Given the description of an element on the screen output the (x, y) to click on. 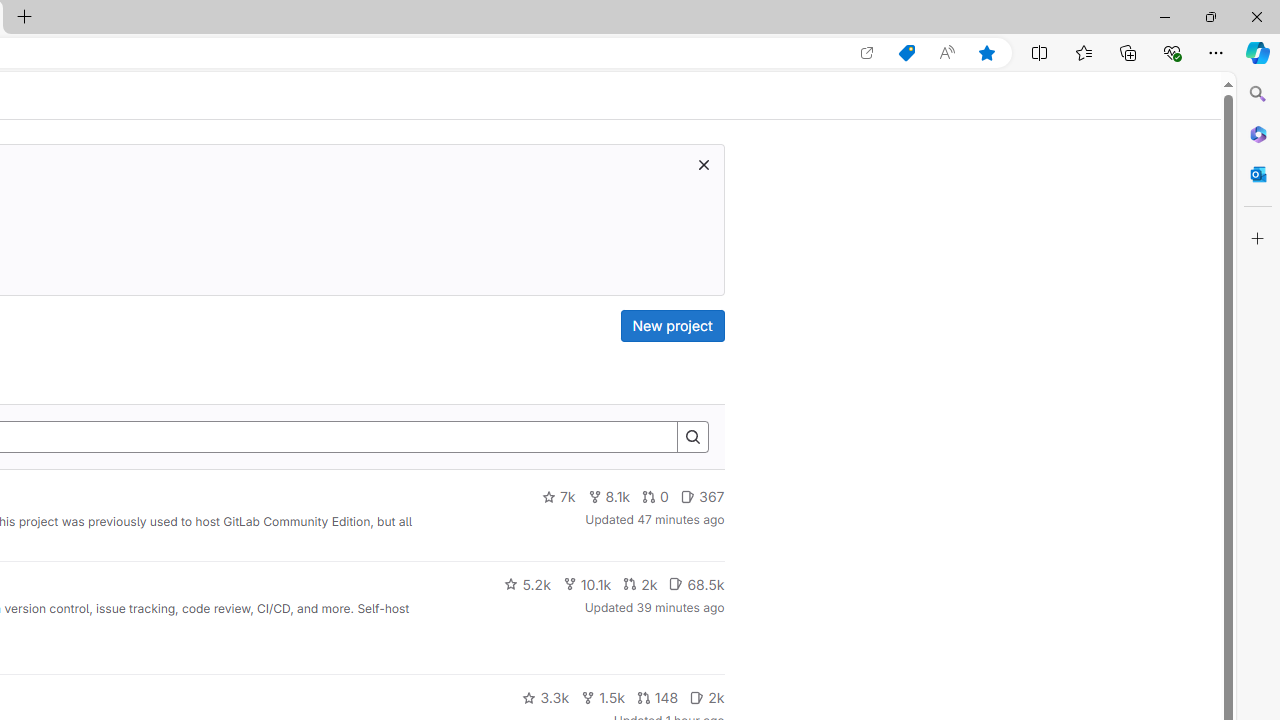
New project (671, 326)
7k (558, 497)
Dismiss trial promotion (703, 164)
3.3k (545, 697)
148 (657, 697)
Class: s14 gl-mr-2 (697, 696)
10.1k (586, 583)
